Given the description of an element on the screen output the (x, y) to click on. 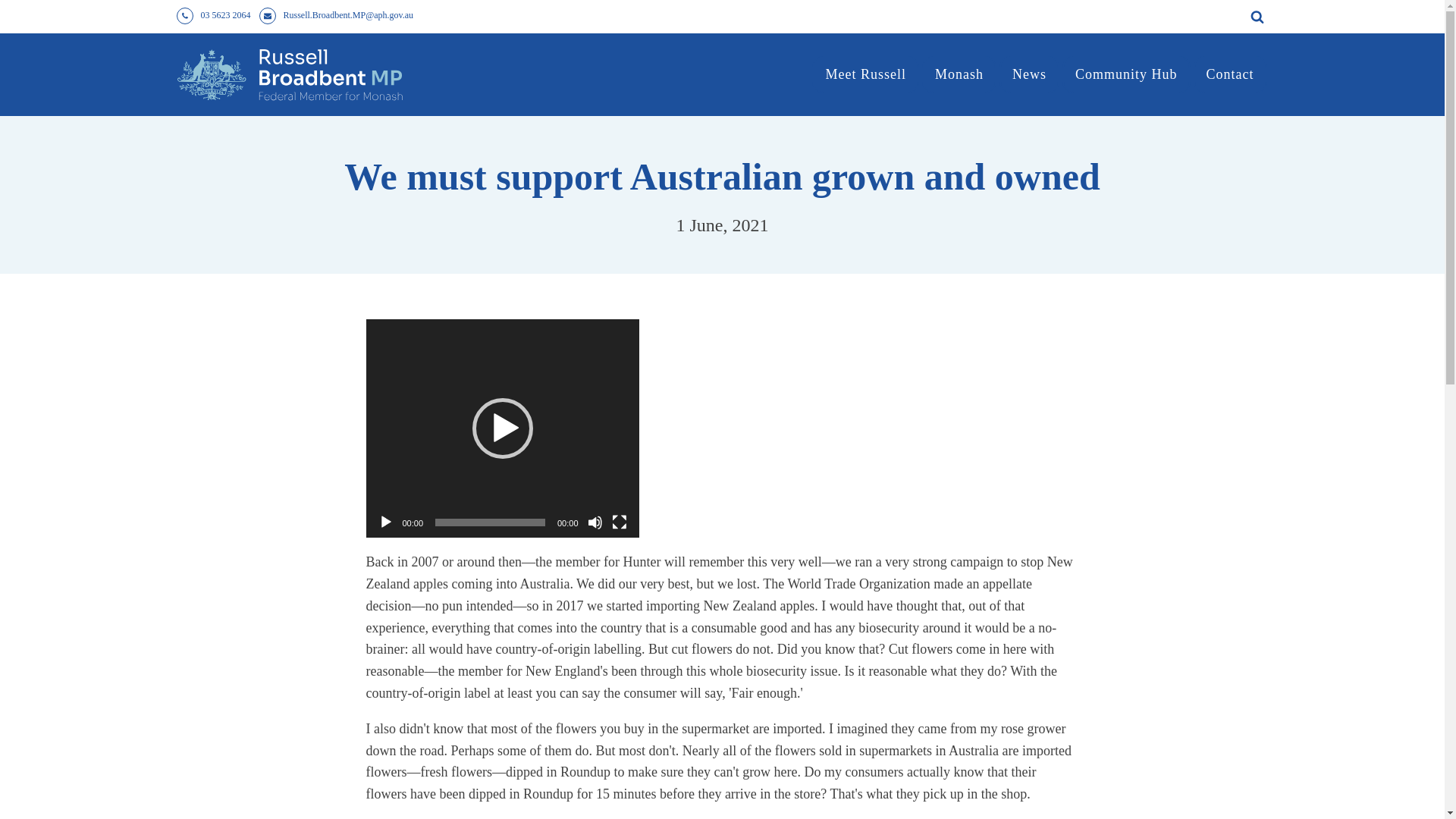
Play (385, 522)
Search (27, 10)
News (1028, 74)
Fullscreen (618, 522)
Community Hub (1126, 74)
Meet Russell (865, 74)
Mute (594, 522)
Monash (958, 74)
Contact (1229, 74)
03 5623 2064 (225, 15)
